Given the description of an element on the screen output the (x, y) to click on. 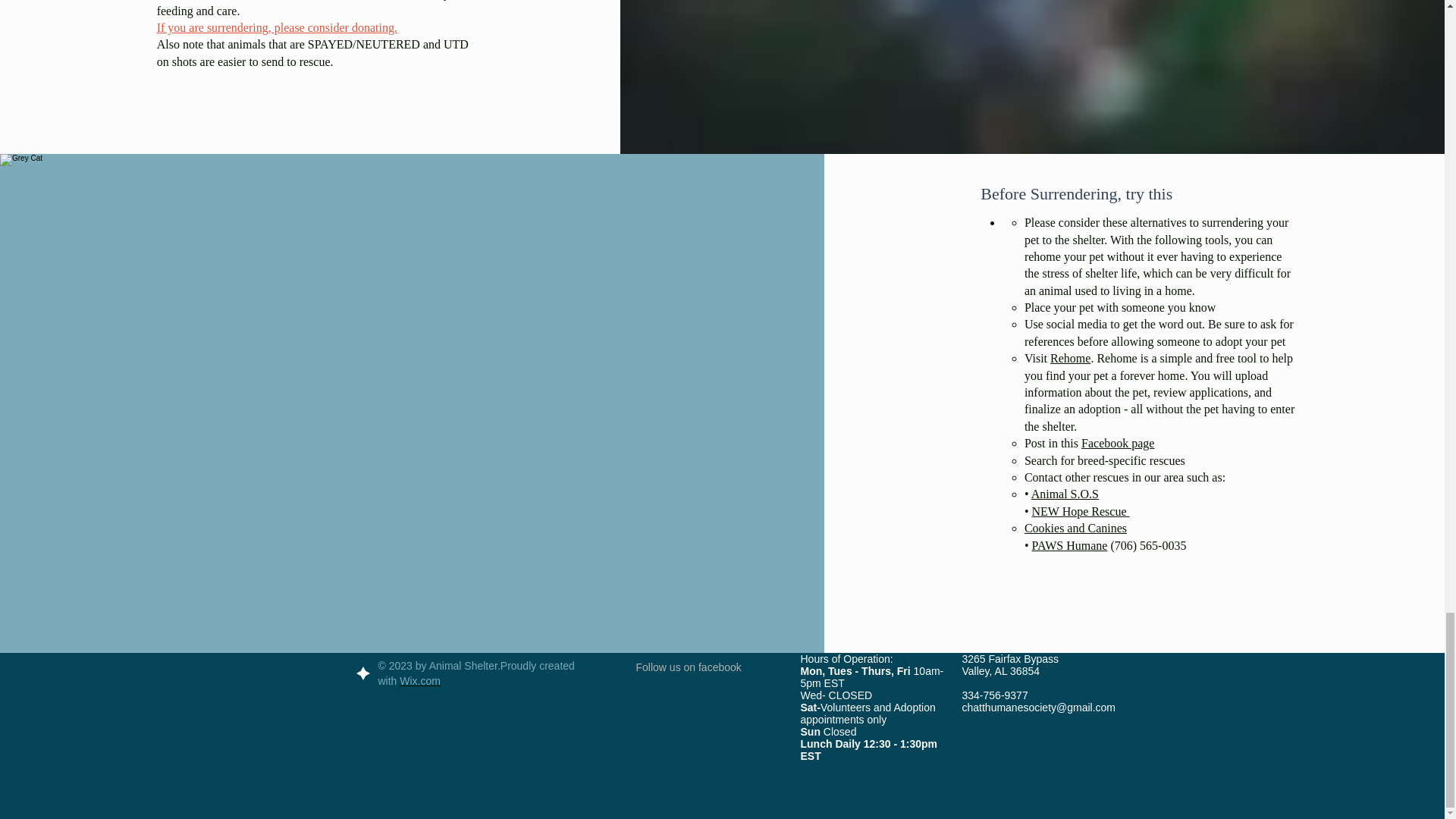
Animal S.O.S (1064, 493)
NEW Hope Rescue  (1080, 511)
Wix.com (419, 680)
PAWS Humane (1070, 545)
Facebook Like (705, 695)
Rehome (1069, 358)
Cookies and Canines (1075, 527)
Facebook page (1117, 442)
